Given the description of an element on the screen output the (x, y) to click on. 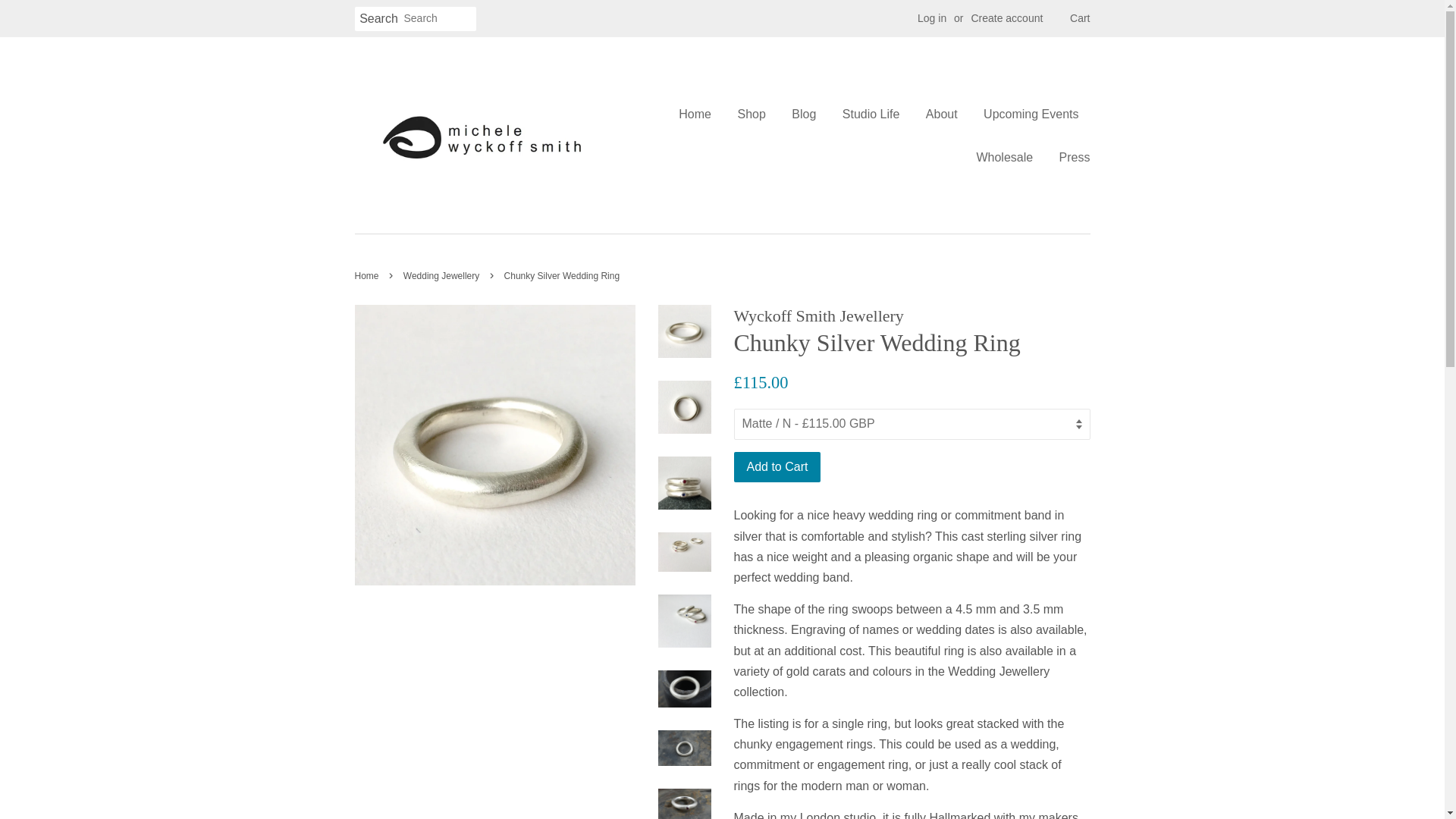
Home (700, 113)
Cart (1079, 18)
Log in (931, 18)
Create account (1006, 18)
Shop (750, 113)
Search (379, 18)
Back to the frontpage (368, 276)
